Given the description of an element on the screen output the (x, y) to click on. 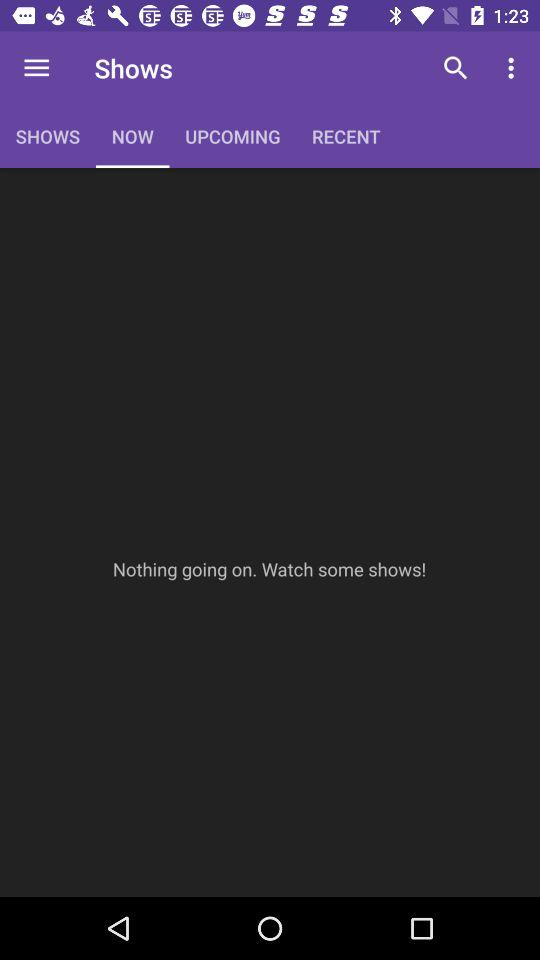
choose the icon to the left of the shows icon (36, 68)
